Given the description of an element on the screen output the (x, y) to click on. 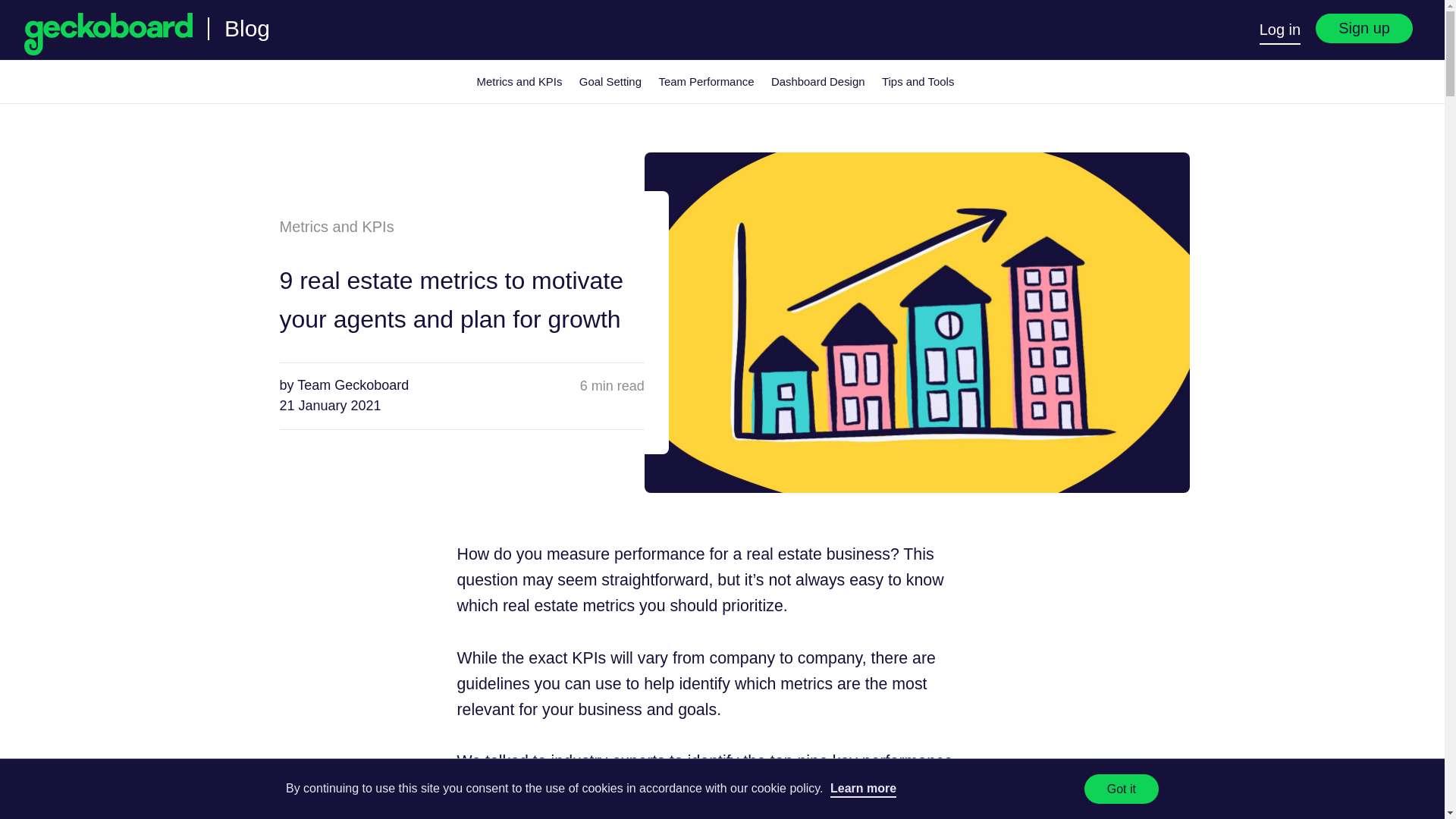
Log in (1280, 31)
Dashboard Design (817, 81)
Geckoboard (108, 33)
Blog (246, 27)
key performance indicators (704, 774)
Sign up (1364, 28)
Geckoboard blog (246, 27)
Tips and Tools (917, 81)
Goal Setting (610, 81)
